Given the description of an element on the screen output the (x, y) to click on. 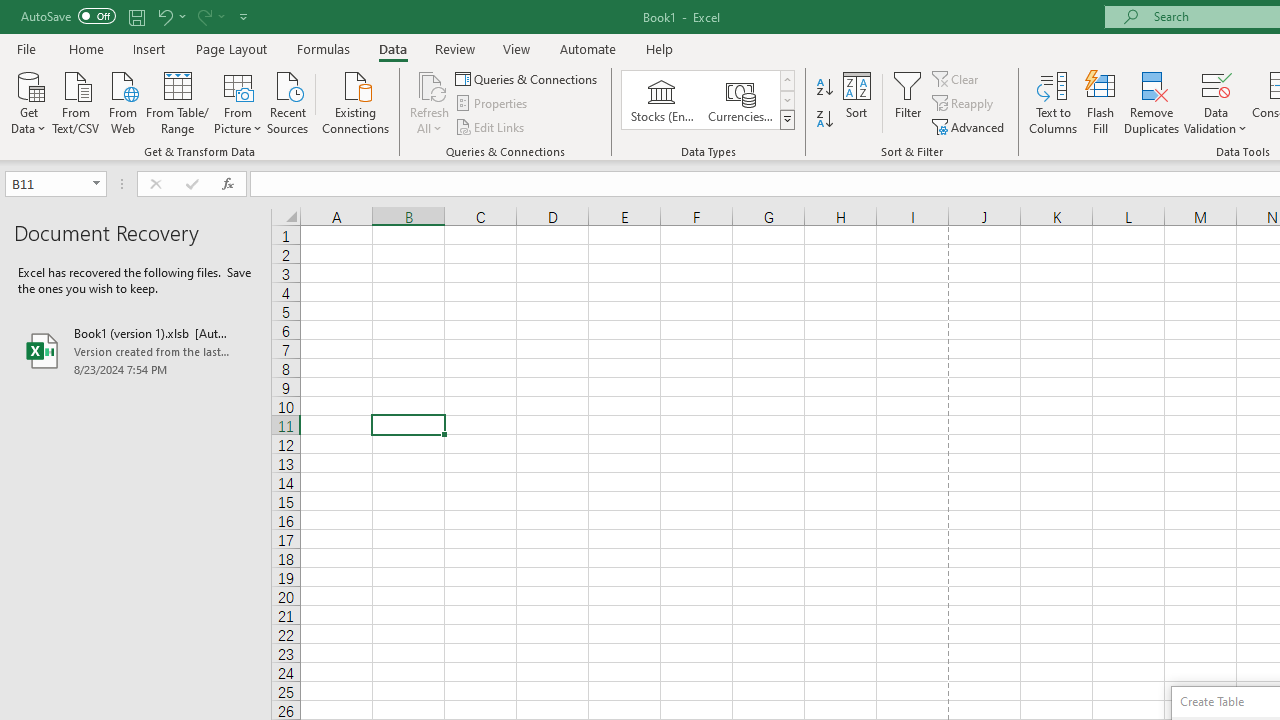
From Text/CSV (75, 101)
Row Down (786, 100)
Clear (957, 78)
Sort... (856, 102)
Properties (492, 103)
Recent Sources (287, 101)
From Web (122, 101)
